Given the description of an element on the screen output the (x, y) to click on. 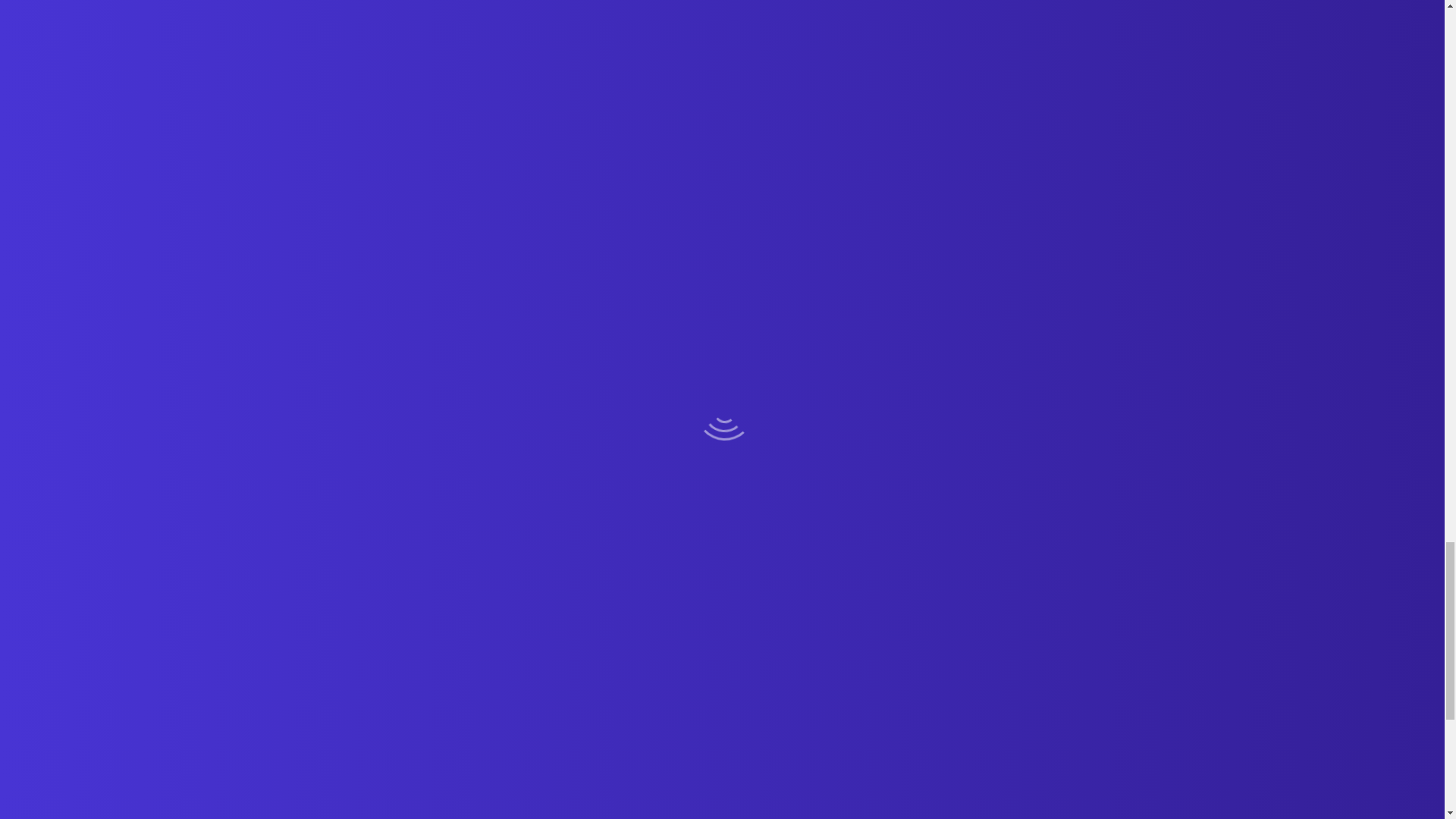
Kubertu (43, 779)
OUR WRITE-UP (229, 582)
READ MORE (75, 582)
